Given the description of an element on the screen output the (x, y) to click on. 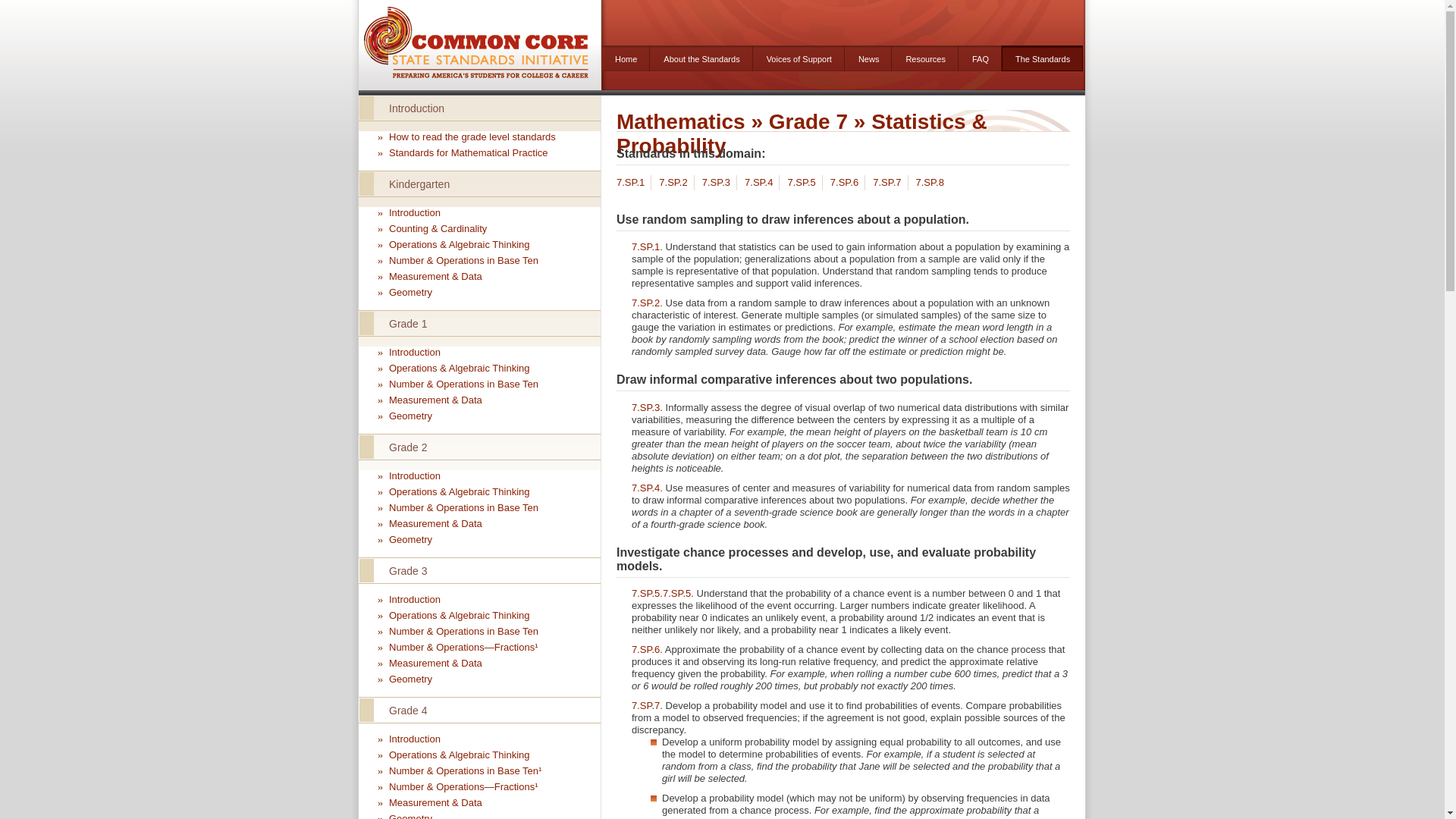
About the Standards (700, 58)
Resources (924, 58)
Grade 1 (479, 323)
Introduction (414, 738)
Home (625, 58)
Grade 4 (479, 710)
Introduction (414, 351)
Voices of Support (798, 58)
Introduction (479, 108)
News (868, 58)
Standards for Mathematical Practice (468, 152)
Geometry (410, 415)
Grade 3 (479, 570)
The Standards (1042, 58)
Introduction (414, 212)
